Given the description of an element on the screen output the (x, y) to click on. 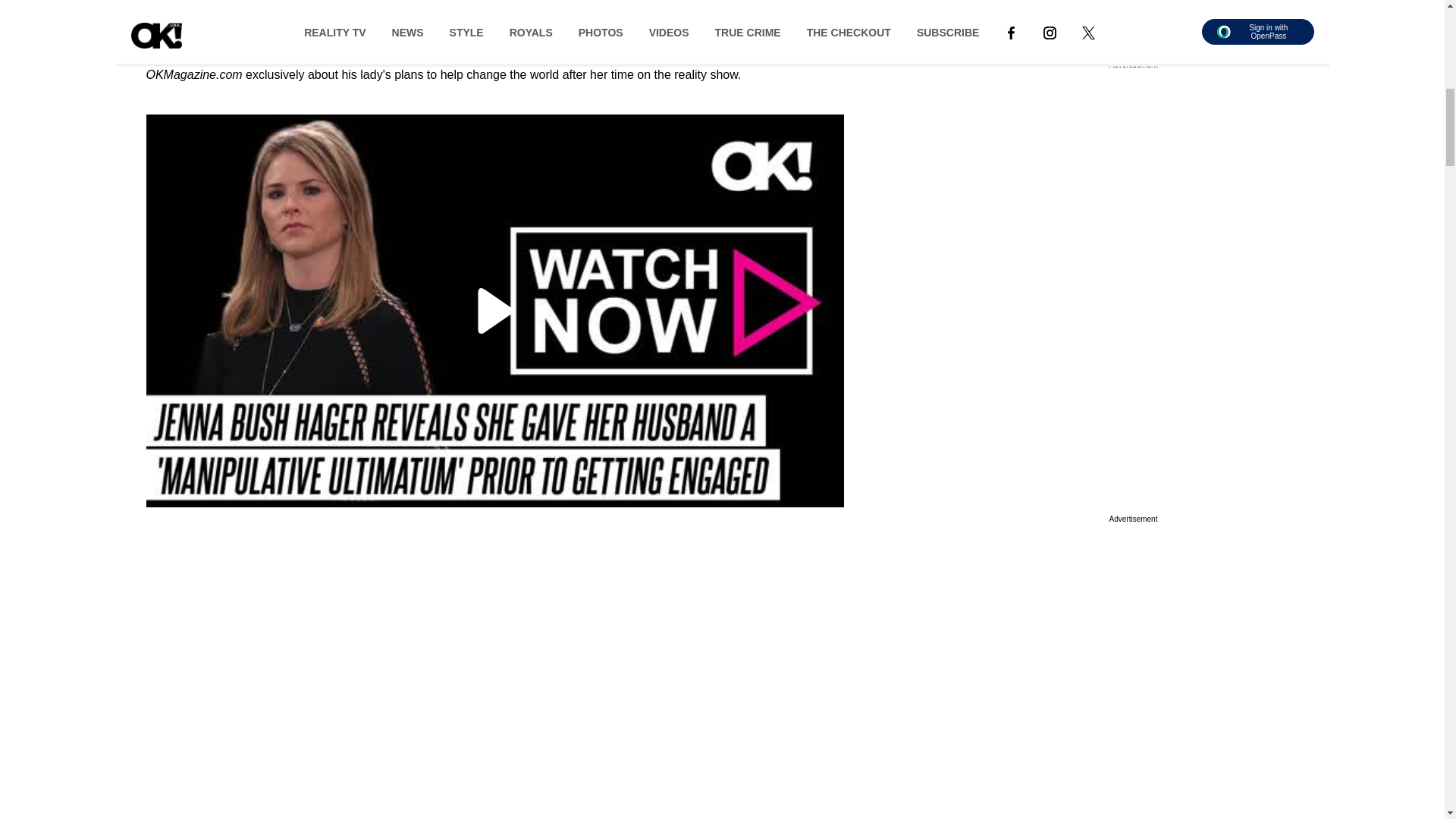
Amber Portwood (194, 25)
